Given the description of an element on the screen output the (x, y) to click on. 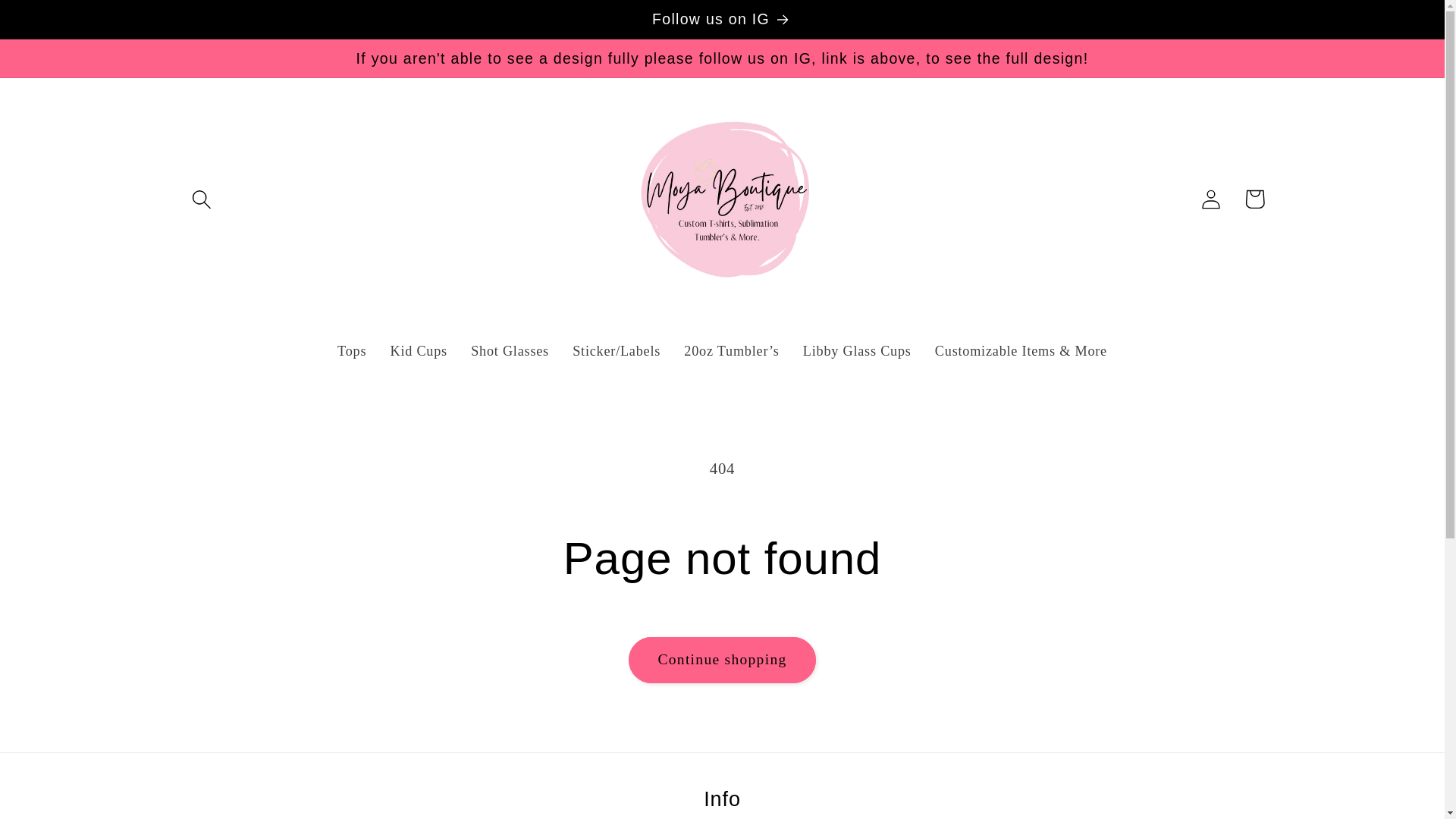
Tops (350, 350)
Libby Glass Cups (856, 350)
Shot Glasses (510, 350)
Cart (1254, 198)
Skip to content (59, 22)
Log in (1211, 198)
Kid Cups (419, 350)
Continue shopping (721, 660)
